Given the description of an element on the screen output the (x, y) to click on. 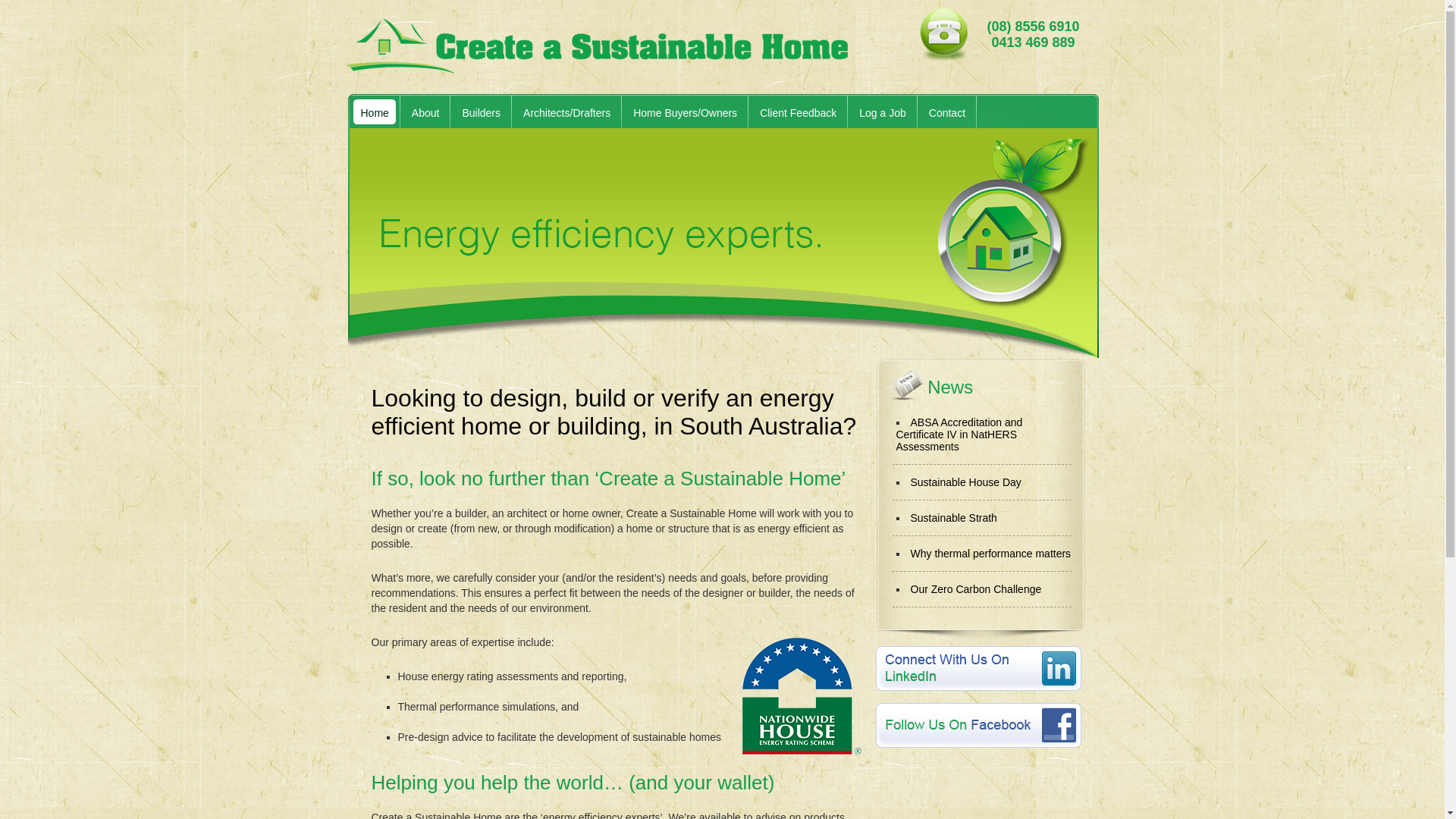
Log a Job Element type: text (876, 112)
Our Zero Carbon Challenge Element type: text (975, 589)
Builders Element type: text (475, 112)
Sustainable Strath Element type: text (953, 517)
Architects/Drafters Element type: text (560, 112)
Client Feedback Element type: text (792, 112)
Sustainable House Day Element type: text (965, 482)
Why thermal performance matters Element type: text (990, 553)
Home Element type: text (368, 112)
House Energy Rating Element type: hover (800, 695)
ABSA Accreditation and Certificate IV in NatHERS Assessments Element type: text (959, 434)
Contact Element type: text (941, 112)
About Element type: text (419, 112)
Home Buyers/Owners Element type: text (679, 112)
